Given the description of an element on the screen output the (x, y) to click on. 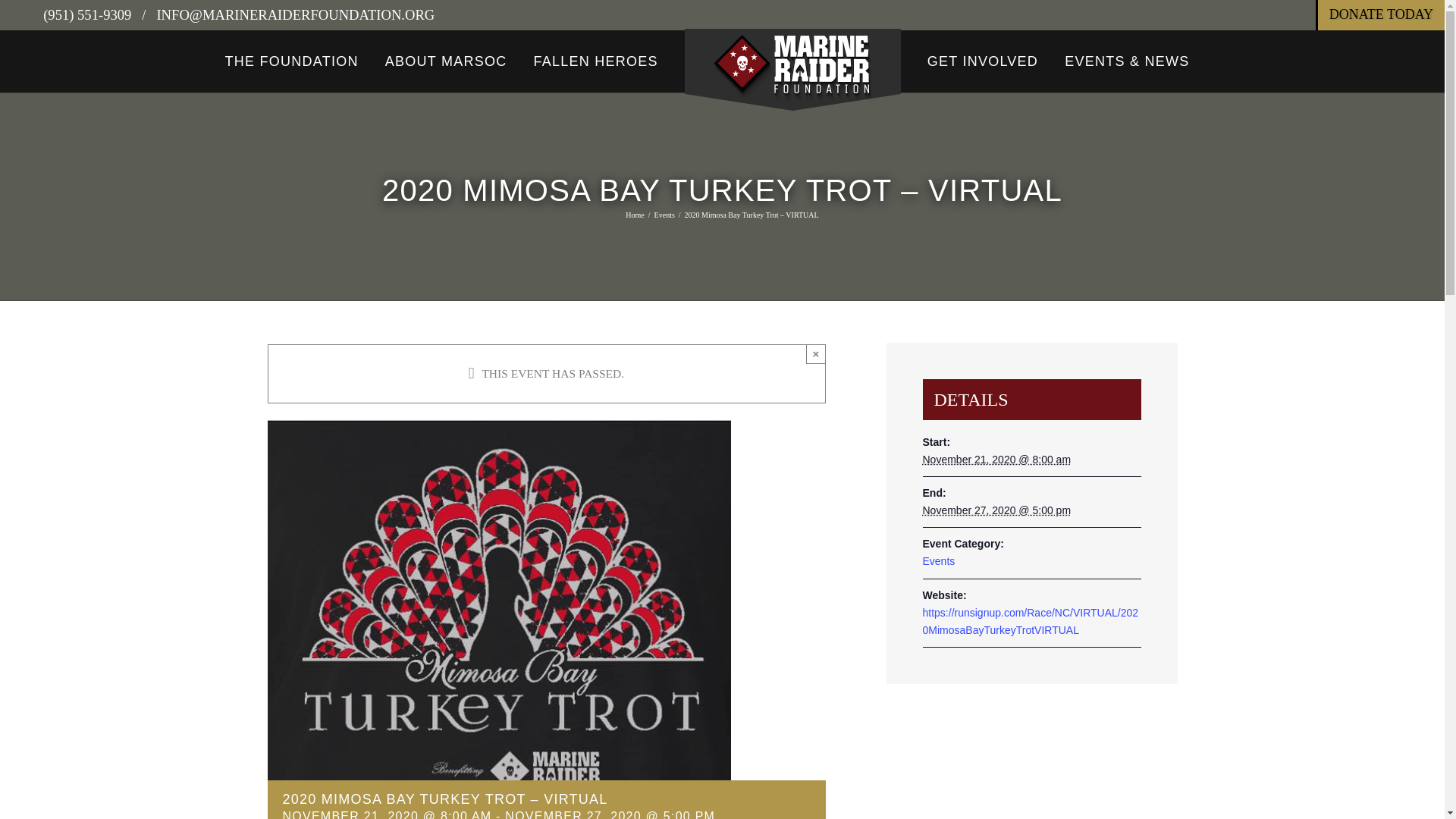
Events (664, 214)
ABOUT MARSOC (445, 61)
2020-11-21 (995, 459)
FALLEN HEROES (595, 61)
THE FOUNDATION (291, 61)
Home (634, 214)
2020-11-27 (995, 510)
GET INVOLVED (982, 61)
